Given the description of an element on the screen output the (x, y) to click on. 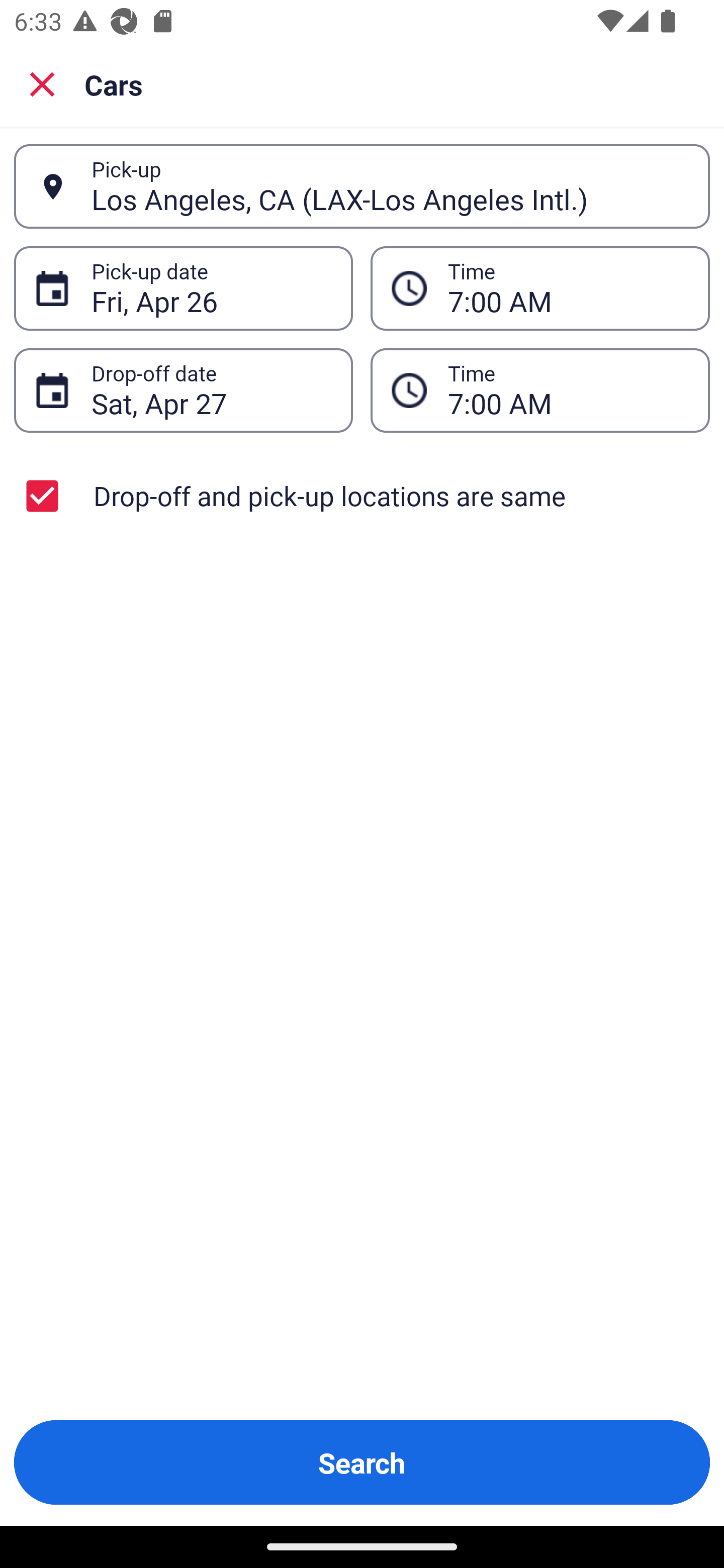
Close search screen (41, 83)
Los Angeles, CA (LAX-Los Angeles Intl.) Pick-up (361, 186)
Los Angeles, CA (LAX-Los Angeles Intl.) (389, 186)
Fri, Apr 26 Pick-up date (183, 288)
7:00 AM (540, 288)
Fri, Apr 26 (211, 288)
7:00 AM (568, 288)
Sat, Apr 27 Drop-off date (183, 390)
7:00 AM (540, 390)
Sat, Apr 27 (211, 390)
7:00 AM (568, 390)
Drop-off and pick-up locations are same (361, 495)
Search Button Search (361, 1462)
